Given the description of an element on the screen output the (x, y) to click on. 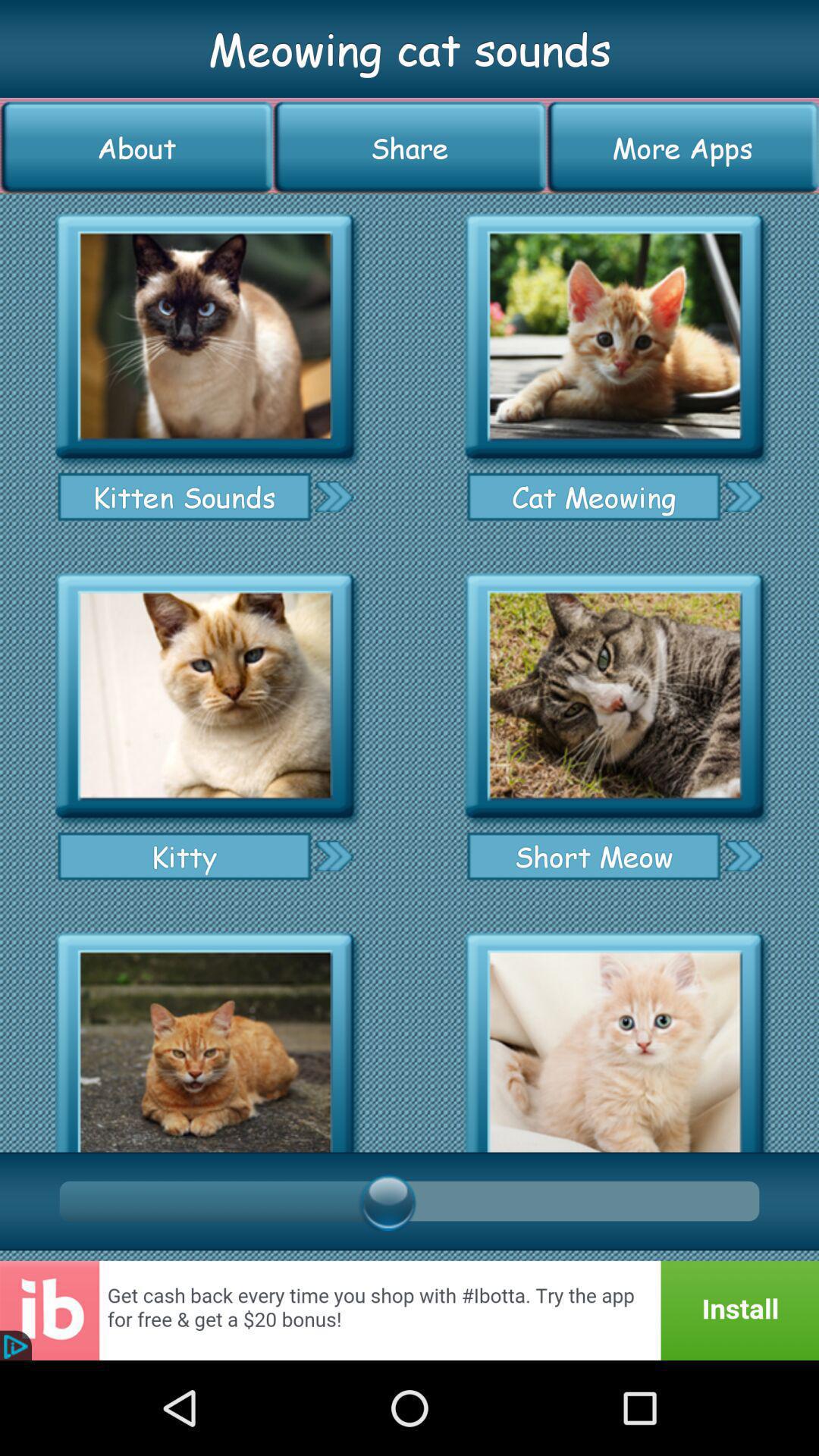
go do install (409, 1310)
